Given the description of an element on the screen output the (x, y) to click on. 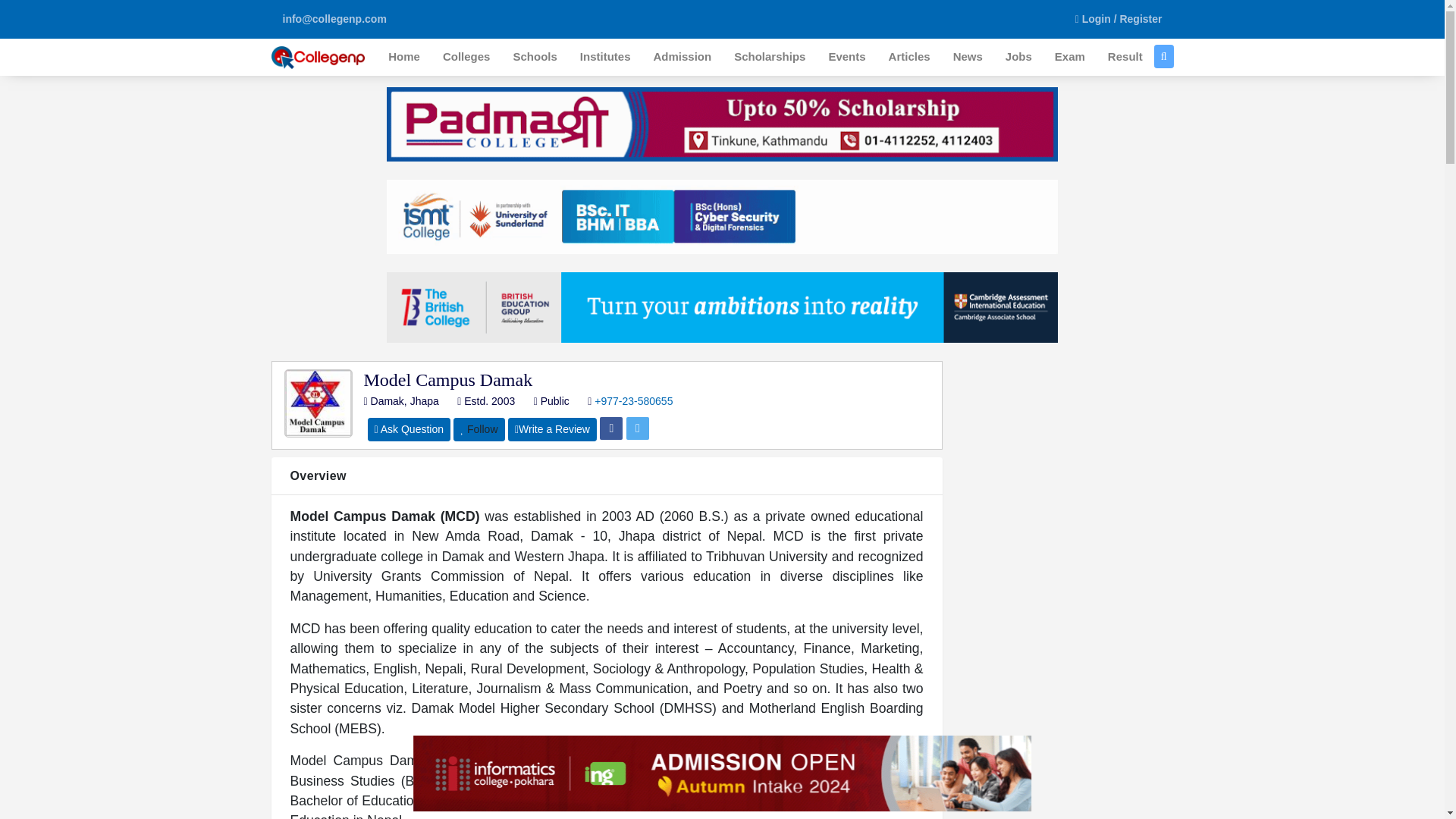
Admission (682, 57)
Follow (477, 429)
Articles (909, 57)
Institutes (605, 57)
Home (403, 57)
Result (1125, 57)
News (968, 57)
Schools (533, 57)
Ask Question (407, 429)
Colleges (466, 57)
Scholarships (769, 57)
Jobs (1018, 57)
Write a Review (552, 429)
Events (846, 57)
Exam (1069, 57)
